Given the description of an element on the screen output the (x, y) to click on. 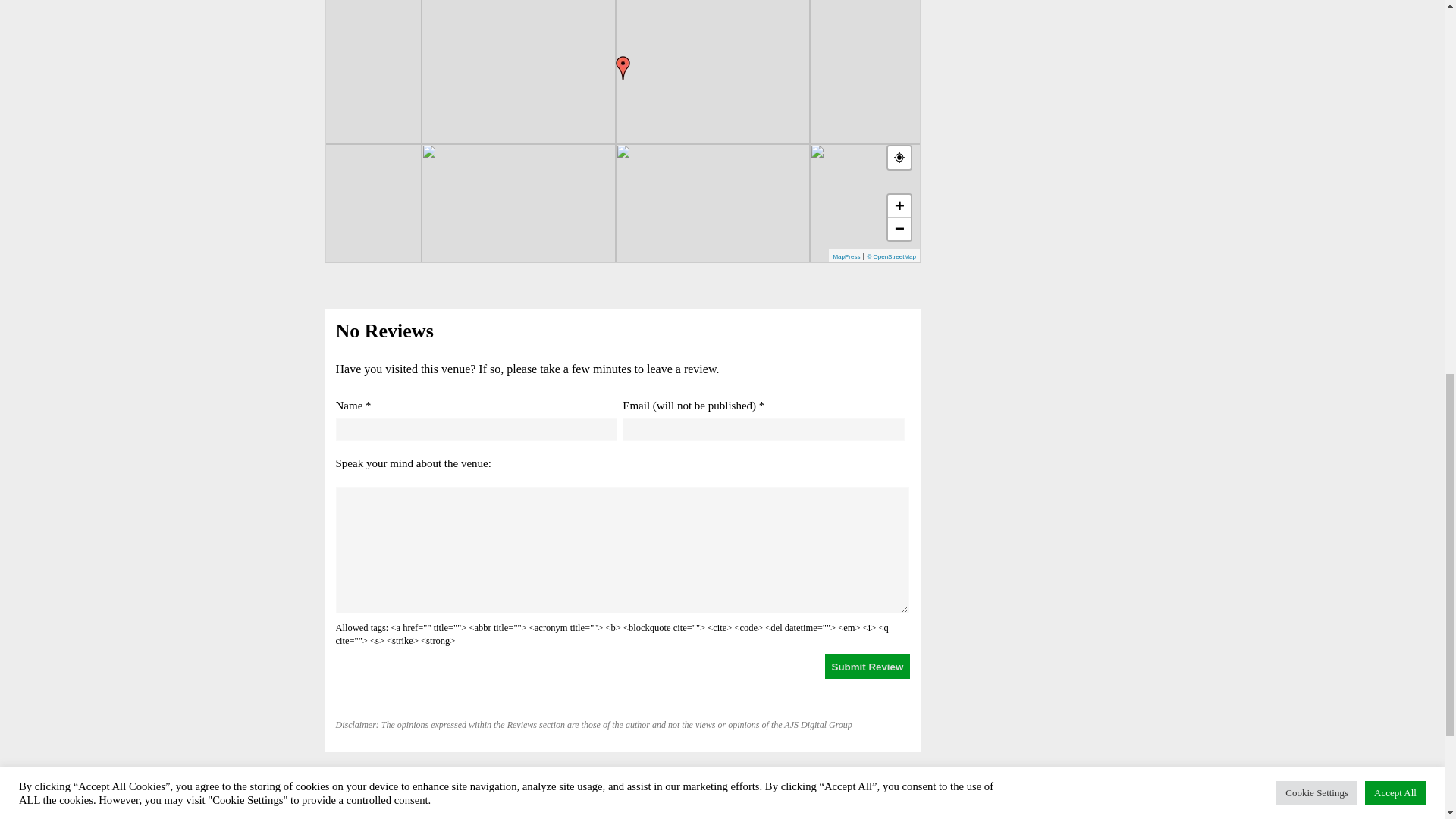
Advertisement (1027, 49)
Submit Review (867, 666)
Your Location (899, 157)
Submit Review (867, 666)
MapPress (846, 256)
